Given the description of an element on the screen output the (x, y) to click on. 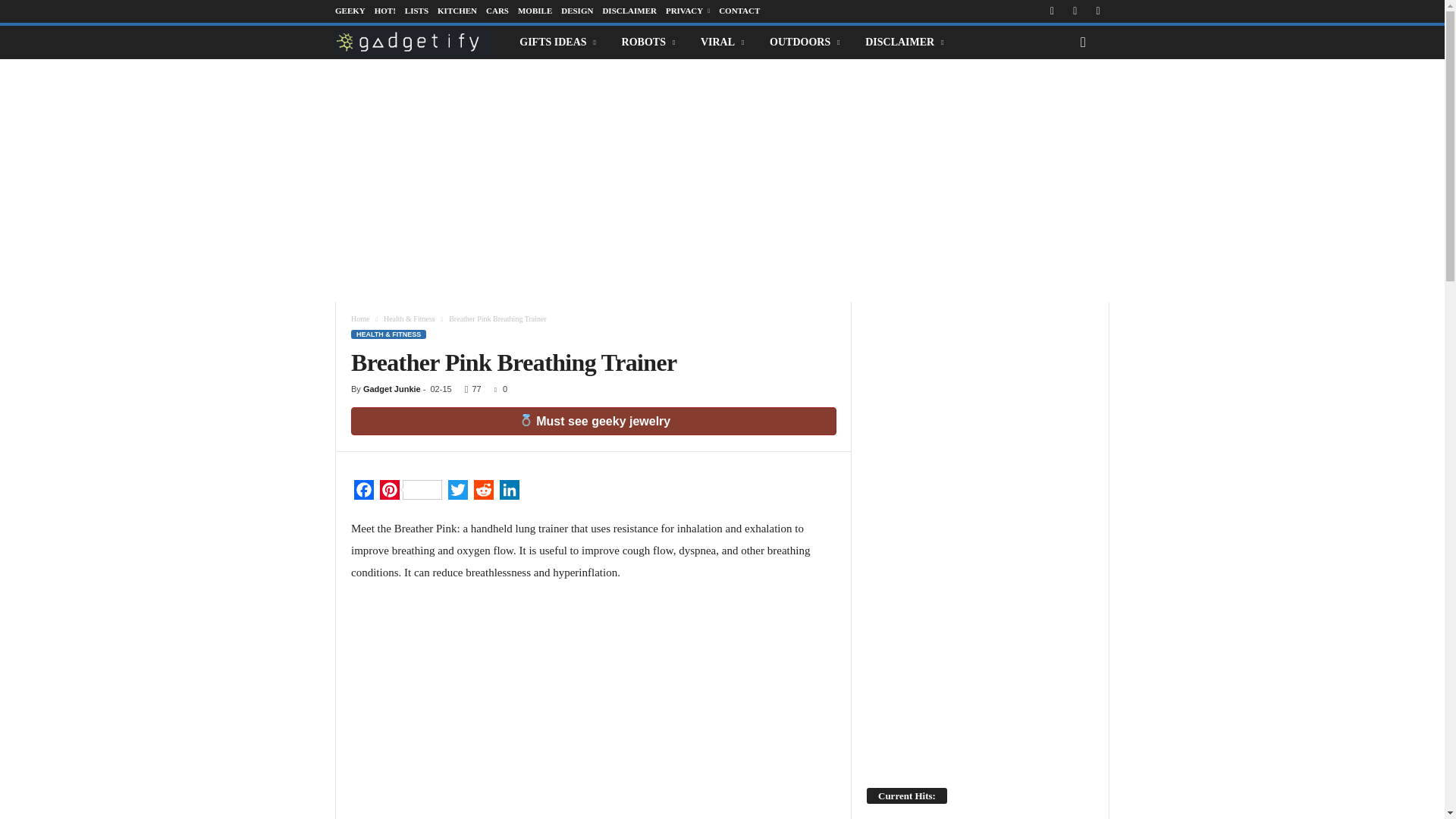
HOT! (385, 10)
LISTS (416, 10)
GEEKY (349, 10)
